Given the description of an element on the screen output the (x, y) to click on. 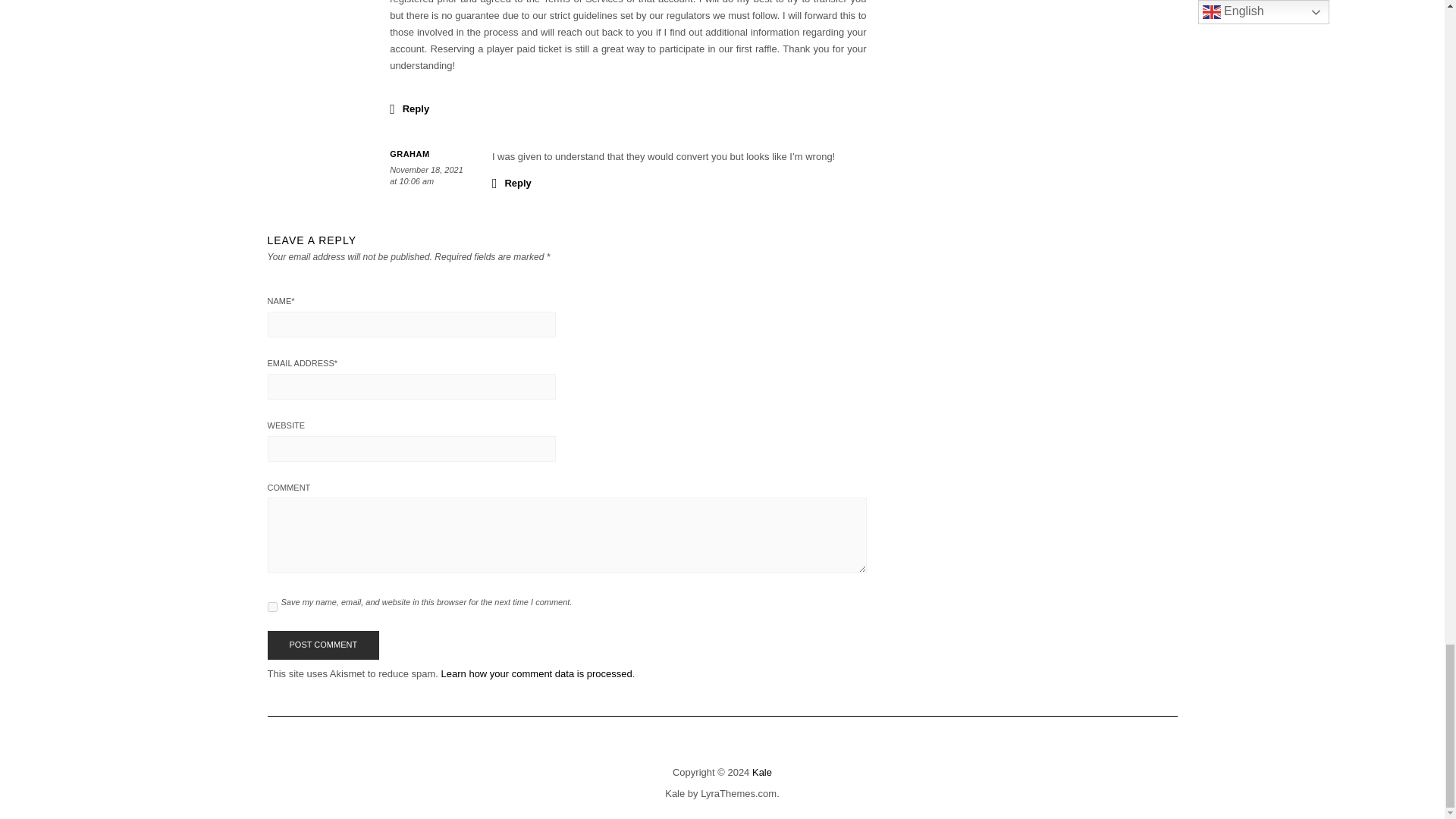
yes (271, 606)
Post Comment (322, 645)
